Given the description of an element on the screen output the (x, y) to click on. 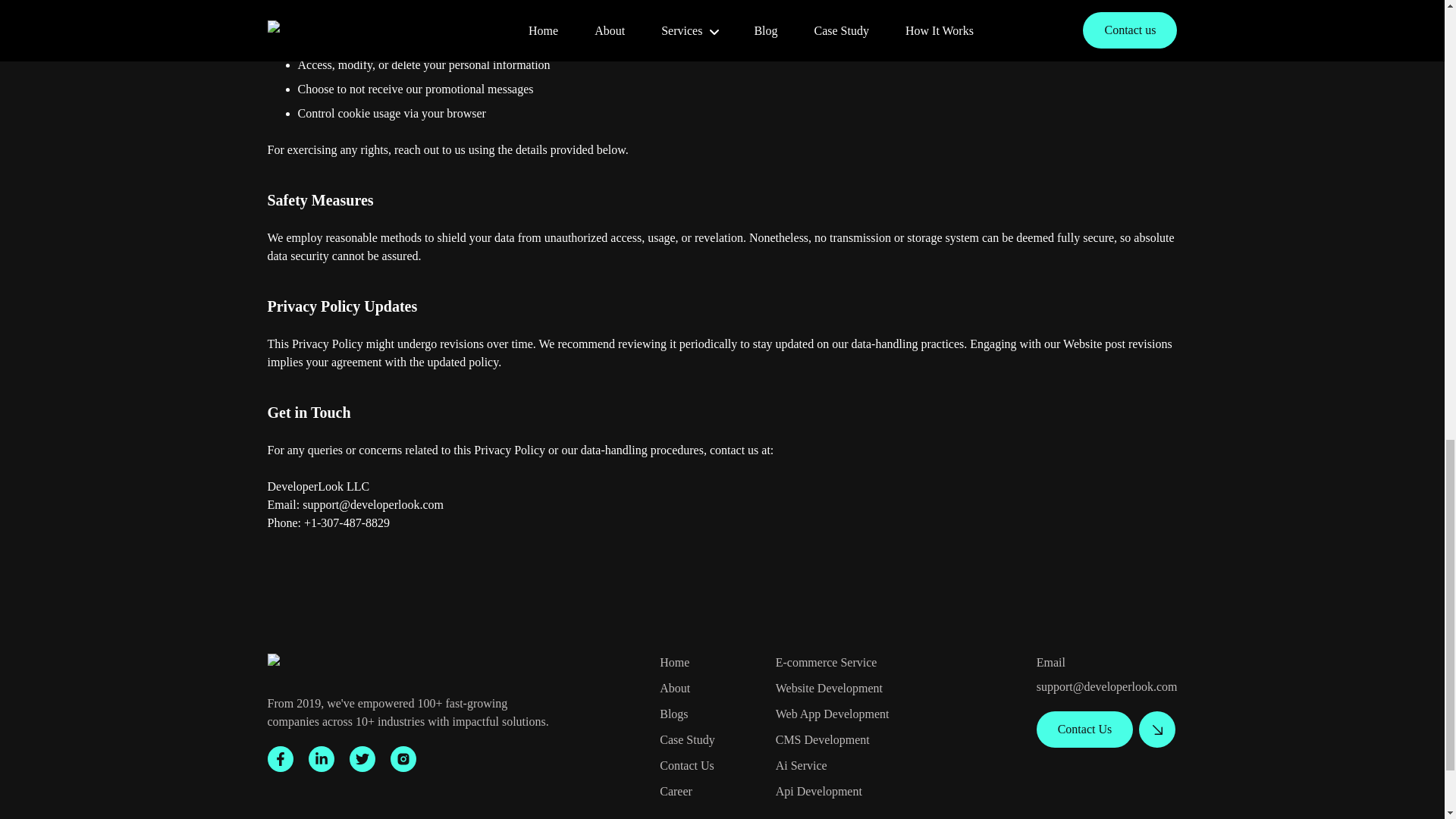
Contact Us (1085, 729)
Api Development (818, 790)
Web App Development (832, 713)
Contact Us (686, 765)
Case Study (686, 739)
About (674, 687)
Website Development (829, 687)
Career (676, 790)
Blogs (673, 713)
Ai Service (801, 765)
E-commerce Service (826, 662)
CMS Development (822, 739)
Home (673, 662)
